Given the description of an element on the screen output the (x, y) to click on. 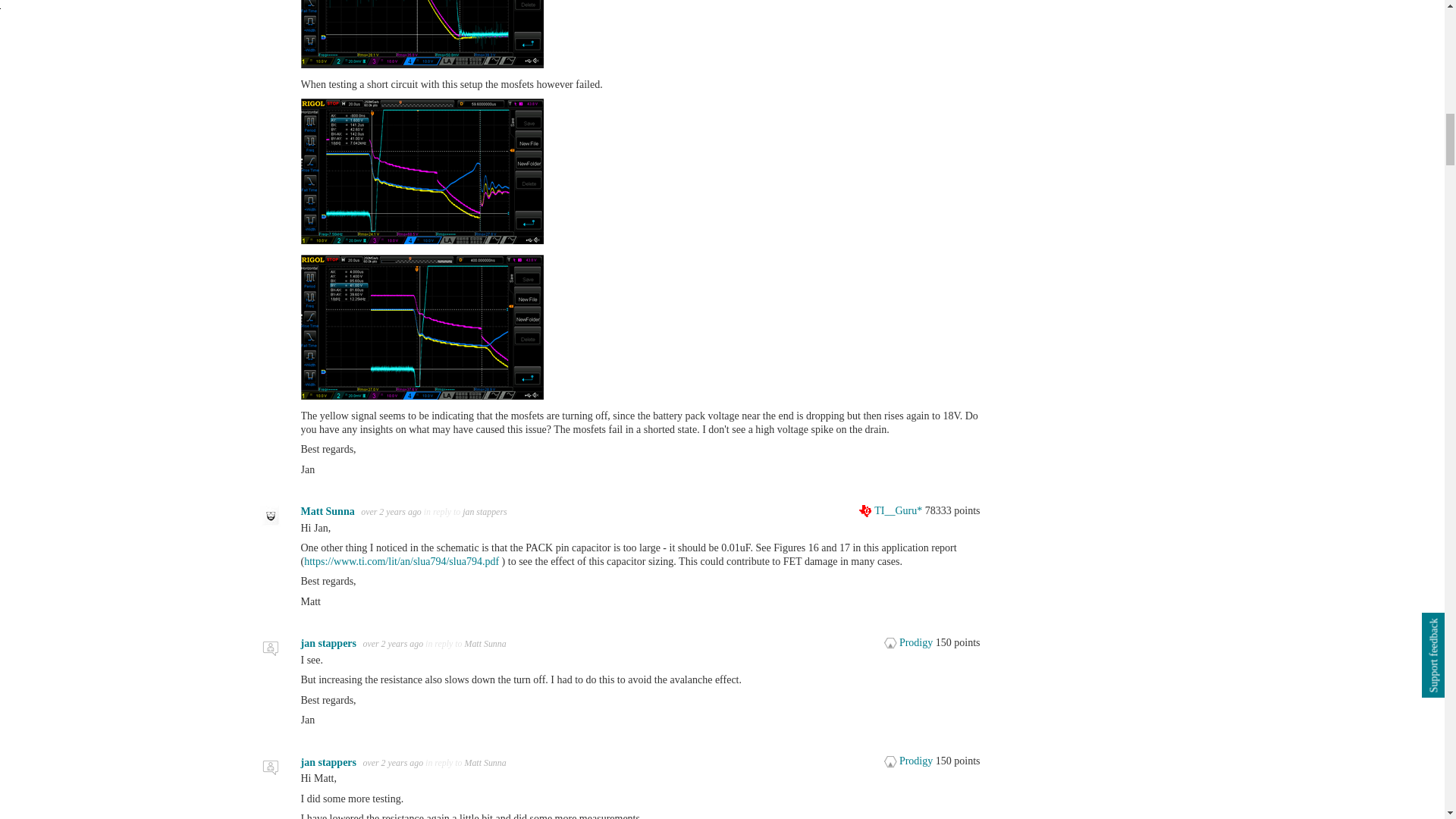
Click here for explanation of levels (909, 760)
Click here for explanation of levels (909, 642)
Click here for explanation of levels (891, 510)
